Given the description of an element on the screen output the (x, y) to click on. 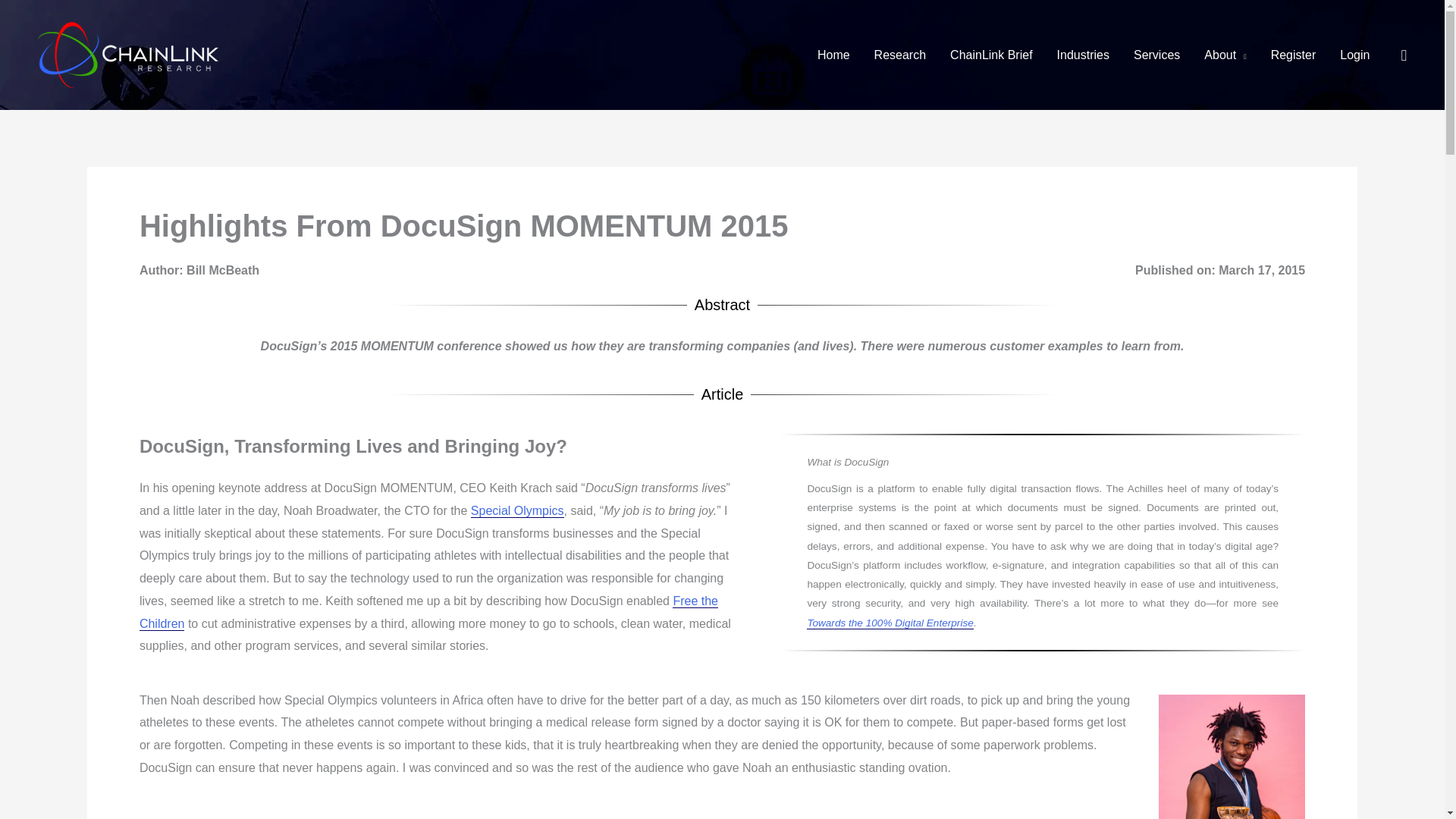
Industries (1083, 54)
Services (1156, 54)
Home (833, 54)
ChainLink Brief (991, 54)
Free the Children (428, 612)
About (1224, 54)
Register (1293, 54)
Research (899, 54)
Login (1354, 54)
Special Olympics (517, 510)
